Given the description of an element on the screen output the (x, y) to click on. 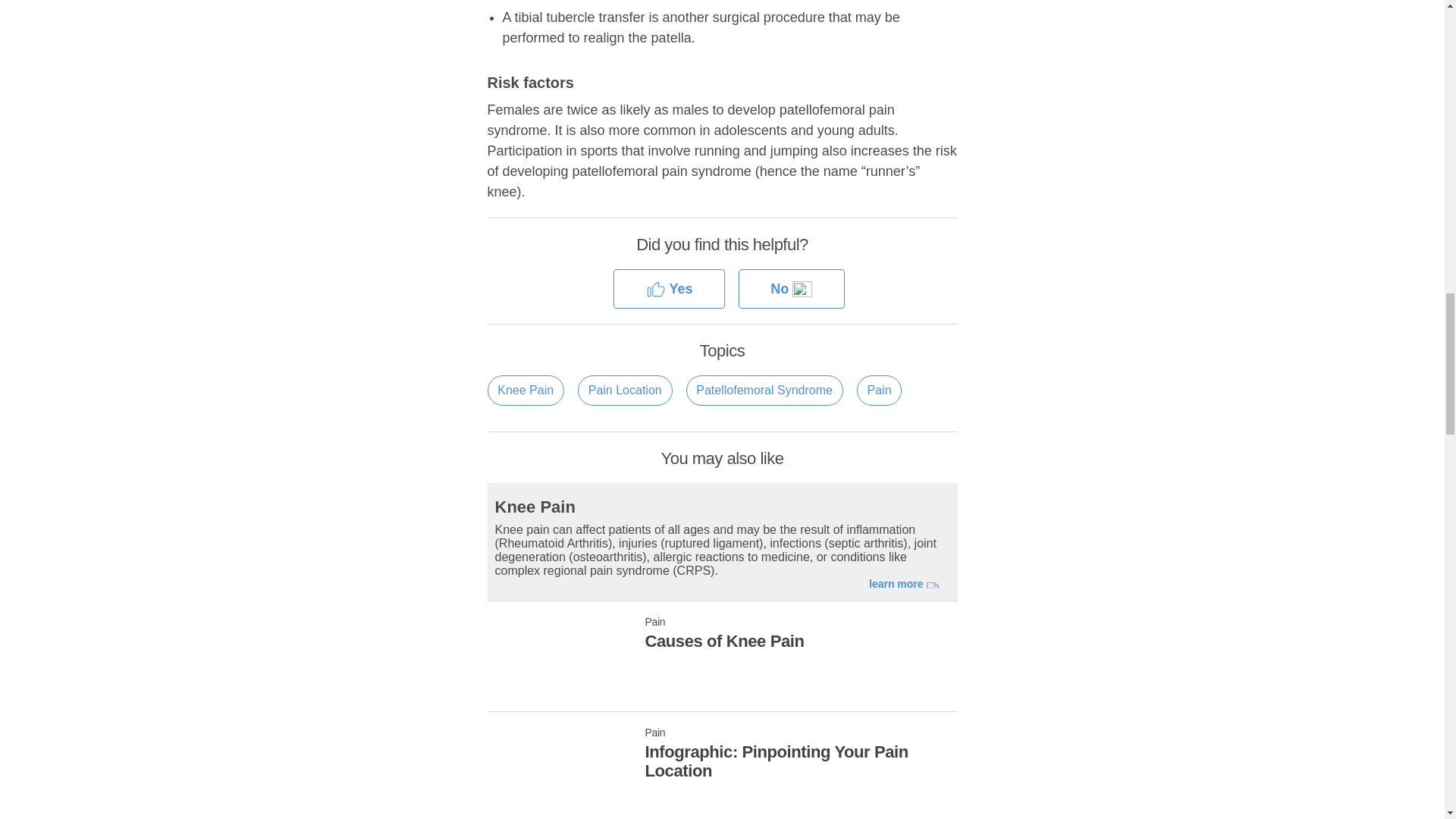
No (791, 289)
Pain (879, 390)
Yes (668, 289)
Knee Pain (721, 646)
Pain Location (721, 757)
Patellofemoral Syndrome (525, 390)
